Given the description of an element on the screen output the (x, y) to click on. 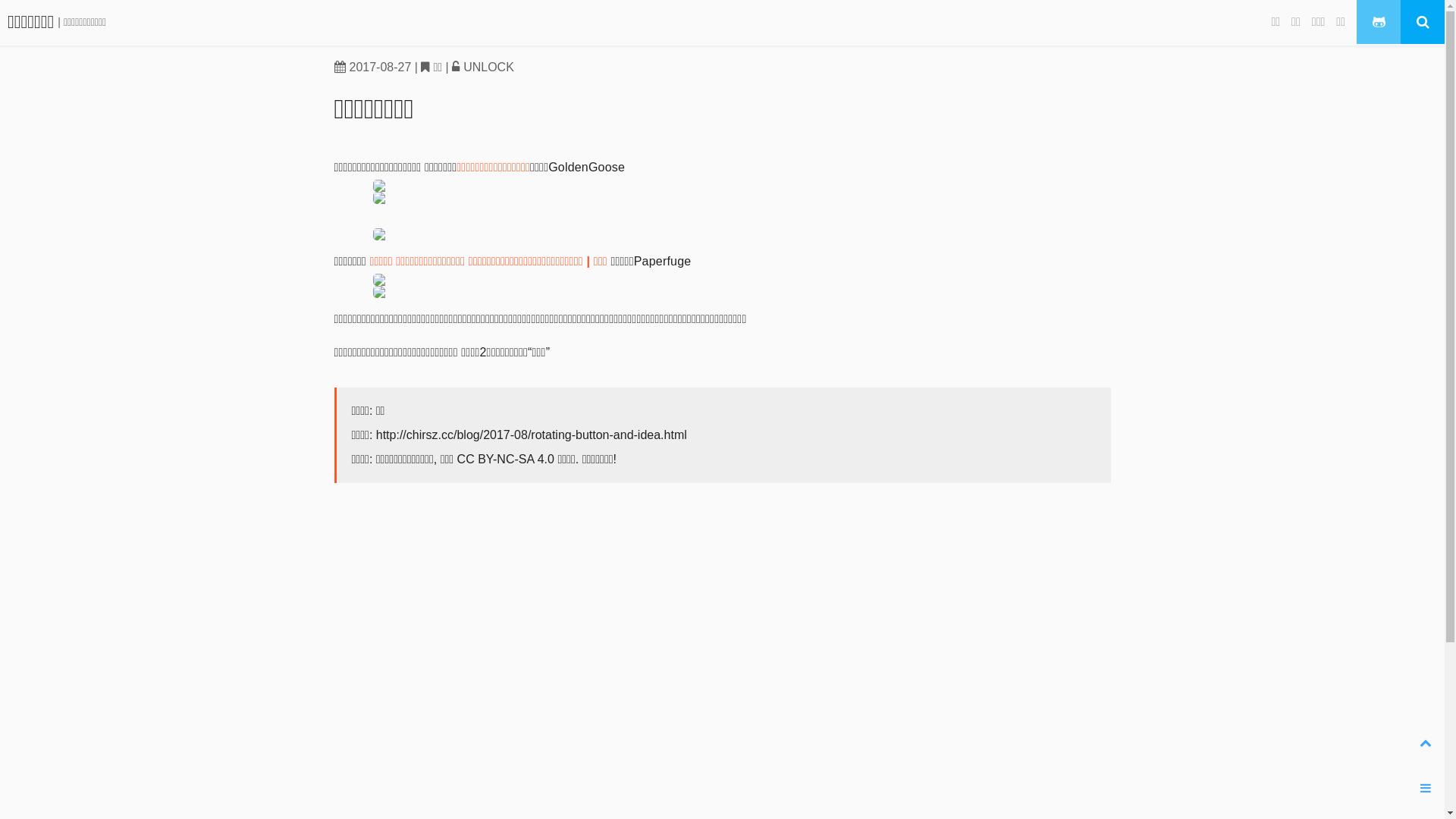
http://chirsz.cc/blog/2017-08/rotating-button-and-idea.html Element type: text (531, 434)
CC BY-NC-SA 4.0 Element type: text (505, 458)
